Given the description of an element on the screen output the (x, y) to click on. 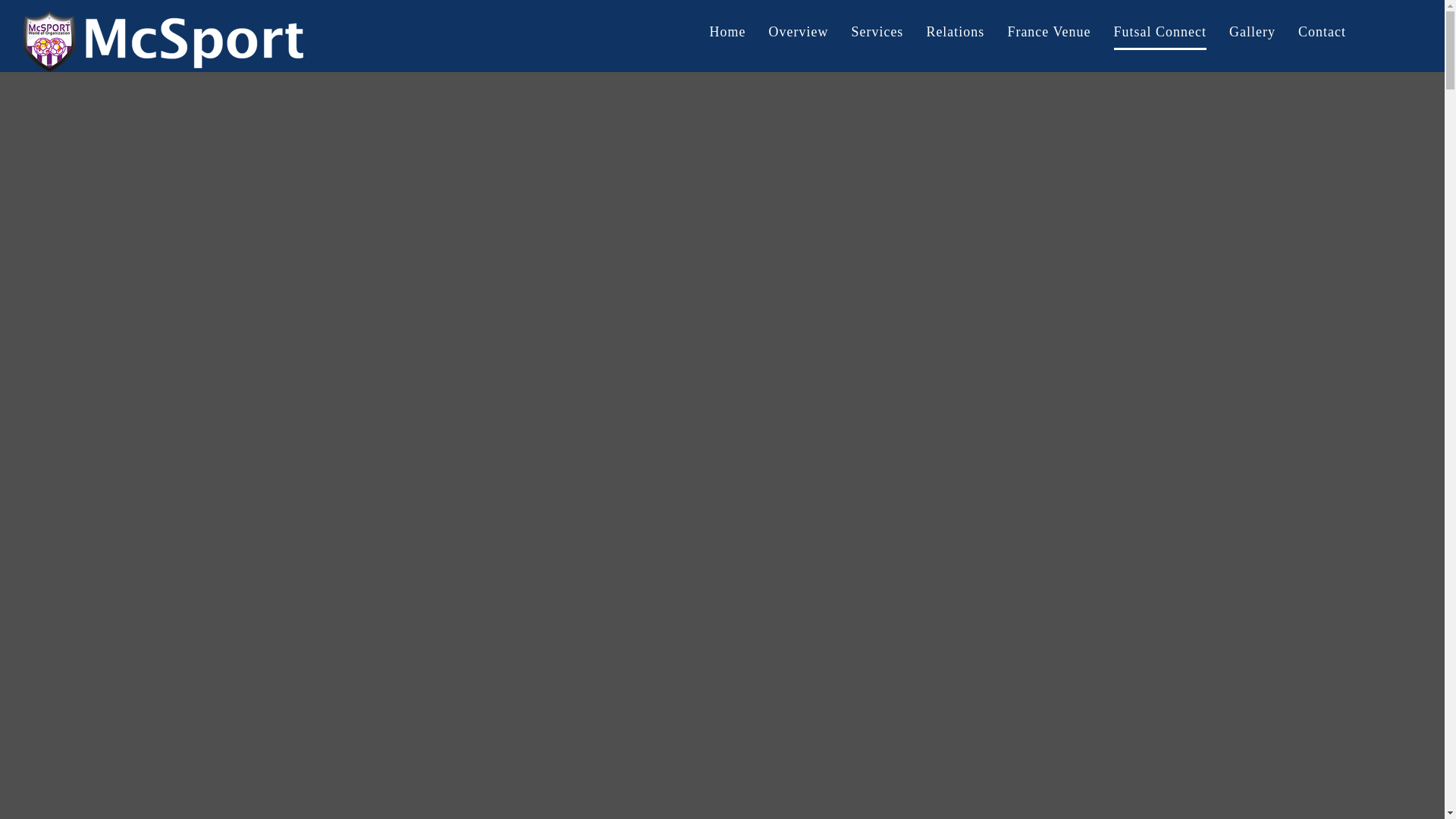
Relations (955, 31)
Overview (798, 31)
France Venue (1048, 31)
Futsal Connect (1160, 31)
